Given the description of an element on the screen output the (x, y) to click on. 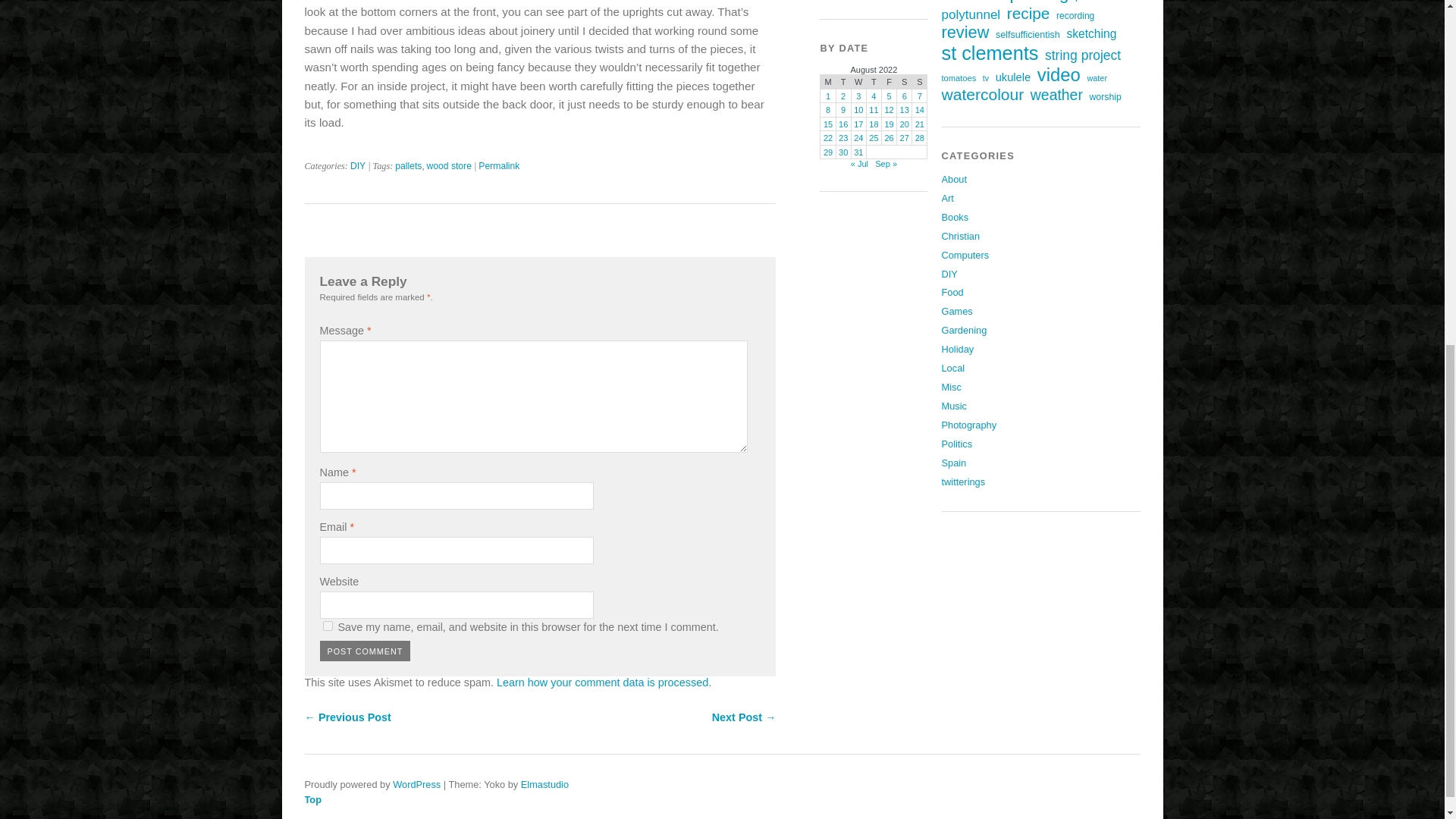
Monday (828, 82)
15 (828, 123)
DIY (357, 165)
Permalink (499, 165)
Post Comment (365, 650)
17 (858, 123)
Thursday (873, 82)
Friday (888, 82)
yes (328, 625)
Post Comment (365, 650)
